Given the description of an element on the screen output the (x, y) to click on. 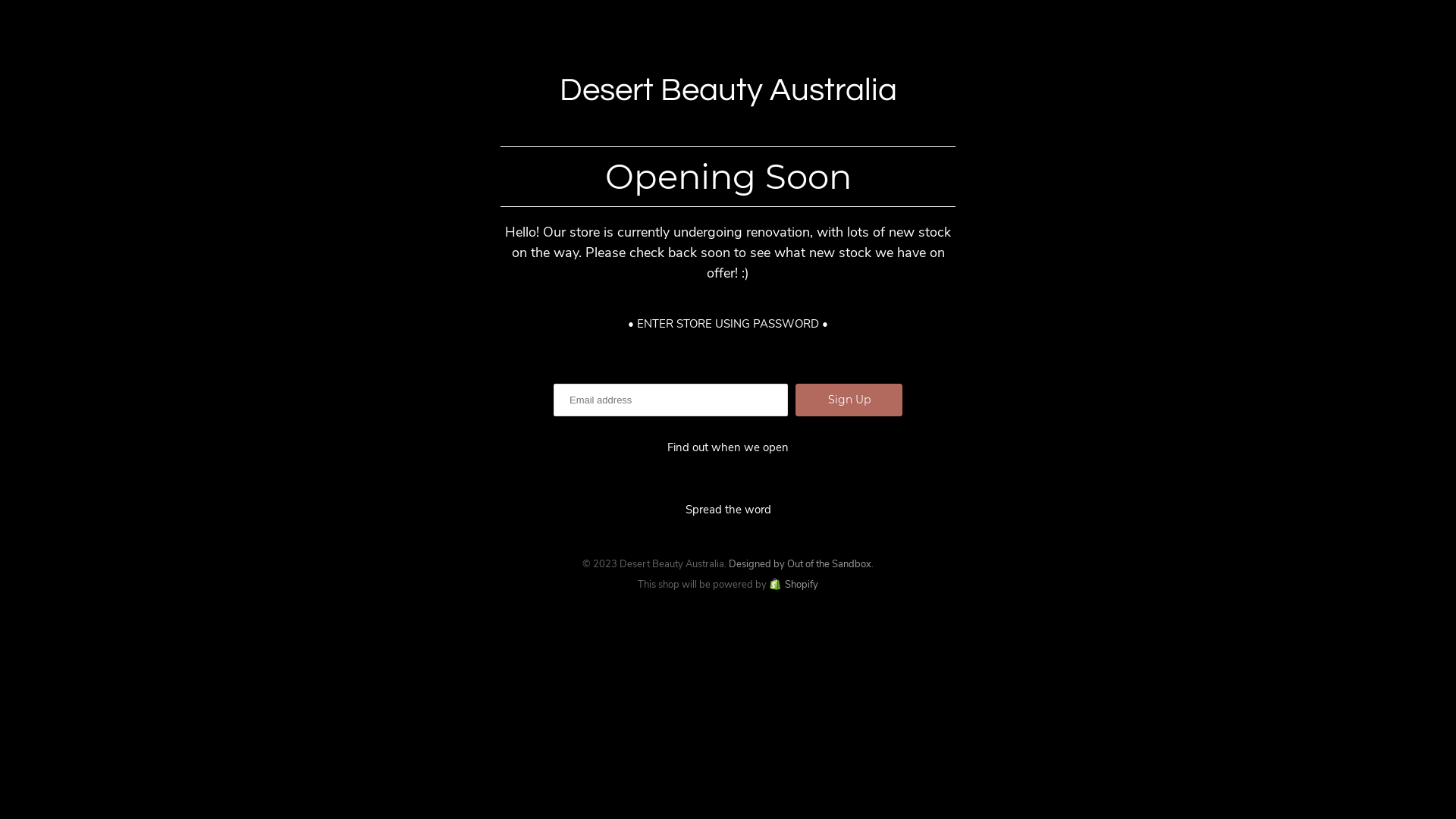
Enter Element type: text (727, 423)
Designed by Out of the Sandbox Element type: text (799, 563)
Shopify Element type: text (793, 584)
Sign Up Element type: text (848, 399)
